Given the description of an element on the screen output the (x, y) to click on. 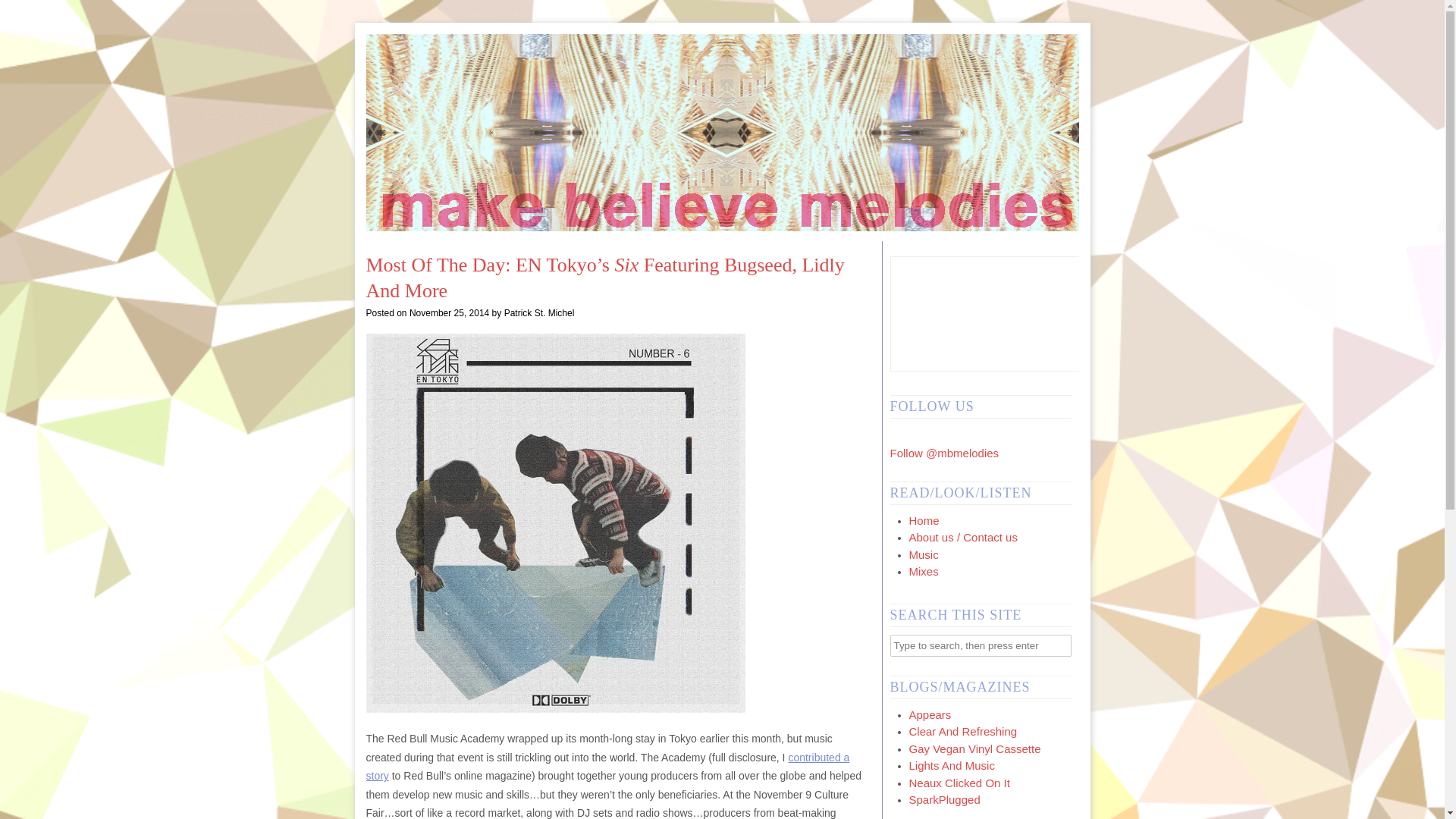
Search (23, 10)
Appears (929, 714)
Lights And Music (951, 765)
Gay Vegan Vinyl Cassette (974, 748)
Music (922, 553)
View all posts by Patrick St. Michel (539, 312)
Home (923, 520)
Type to search, then press enter (980, 644)
Patrick St. Michel (539, 312)
contributed a story (606, 766)
